Given the description of an element on the screen output the (x, y) to click on. 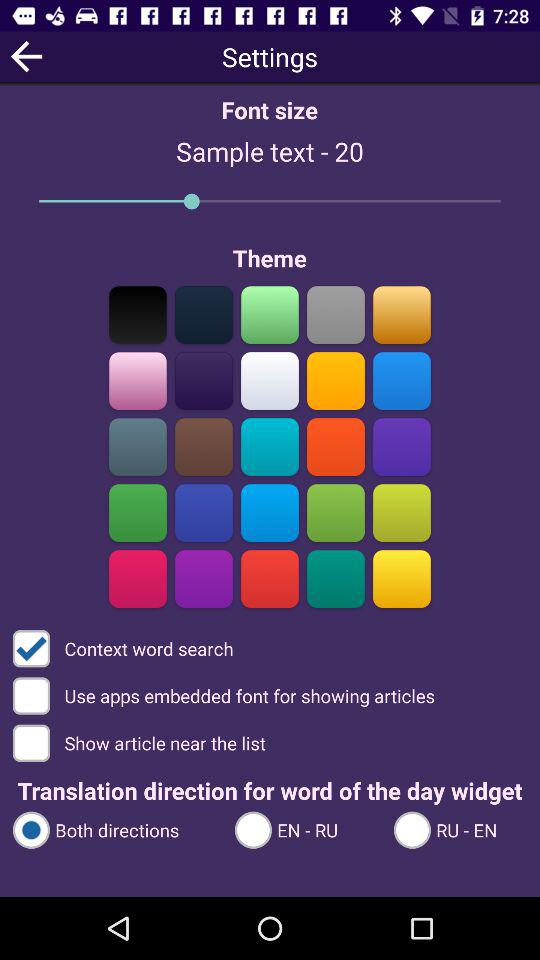
select the color bar (335, 578)
